Given the description of an element on the screen output the (x, y) to click on. 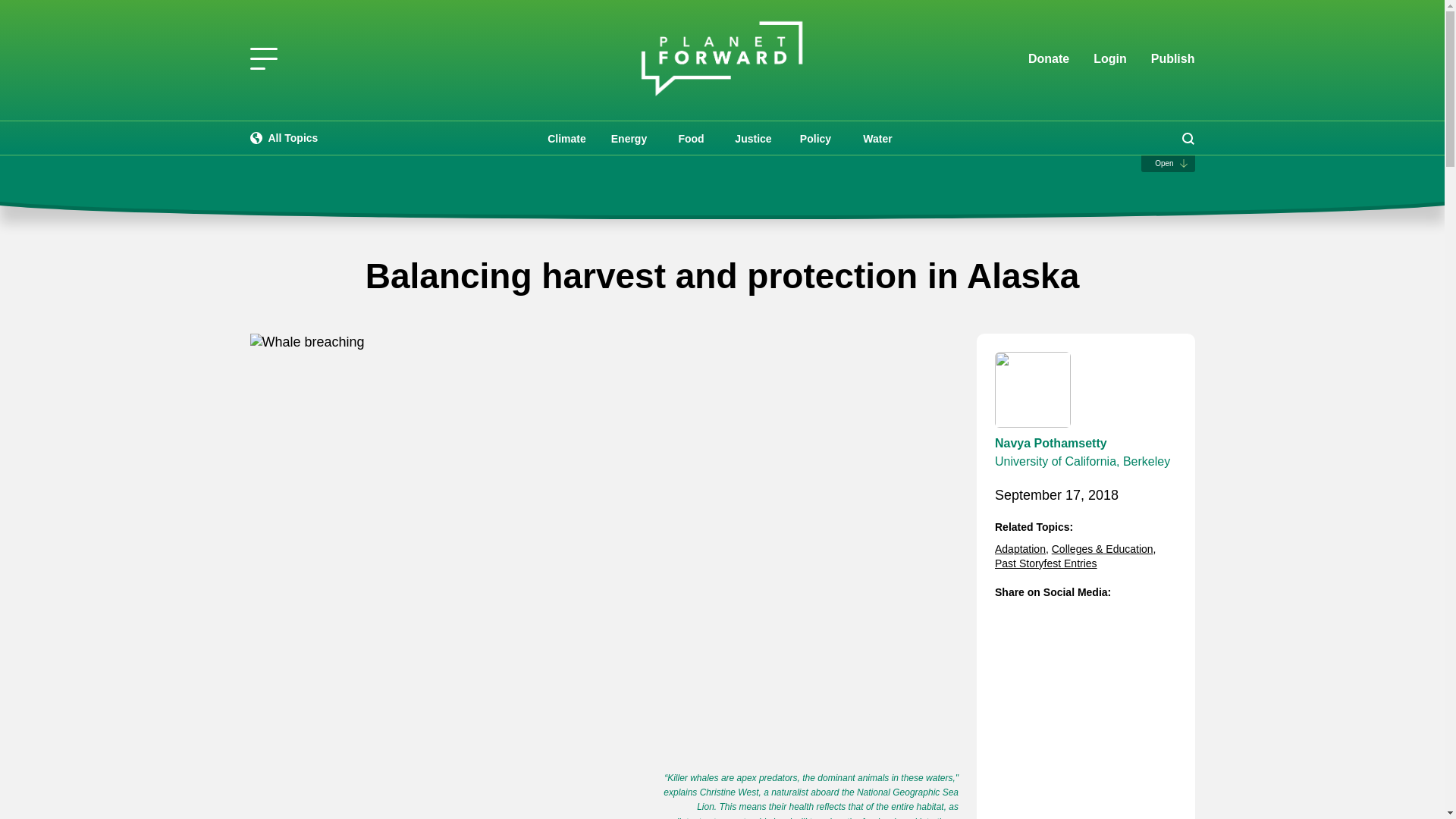
Donate (1047, 58)
Publish (1173, 58)
Policy (814, 137)
Energy (627, 137)
Justice (753, 137)
Login (1109, 58)
Climate (565, 137)
Food (690, 137)
Water (876, 137)
All Topics (284, 138)
